Given the description of an element on the screen output the (x, y) to click on. 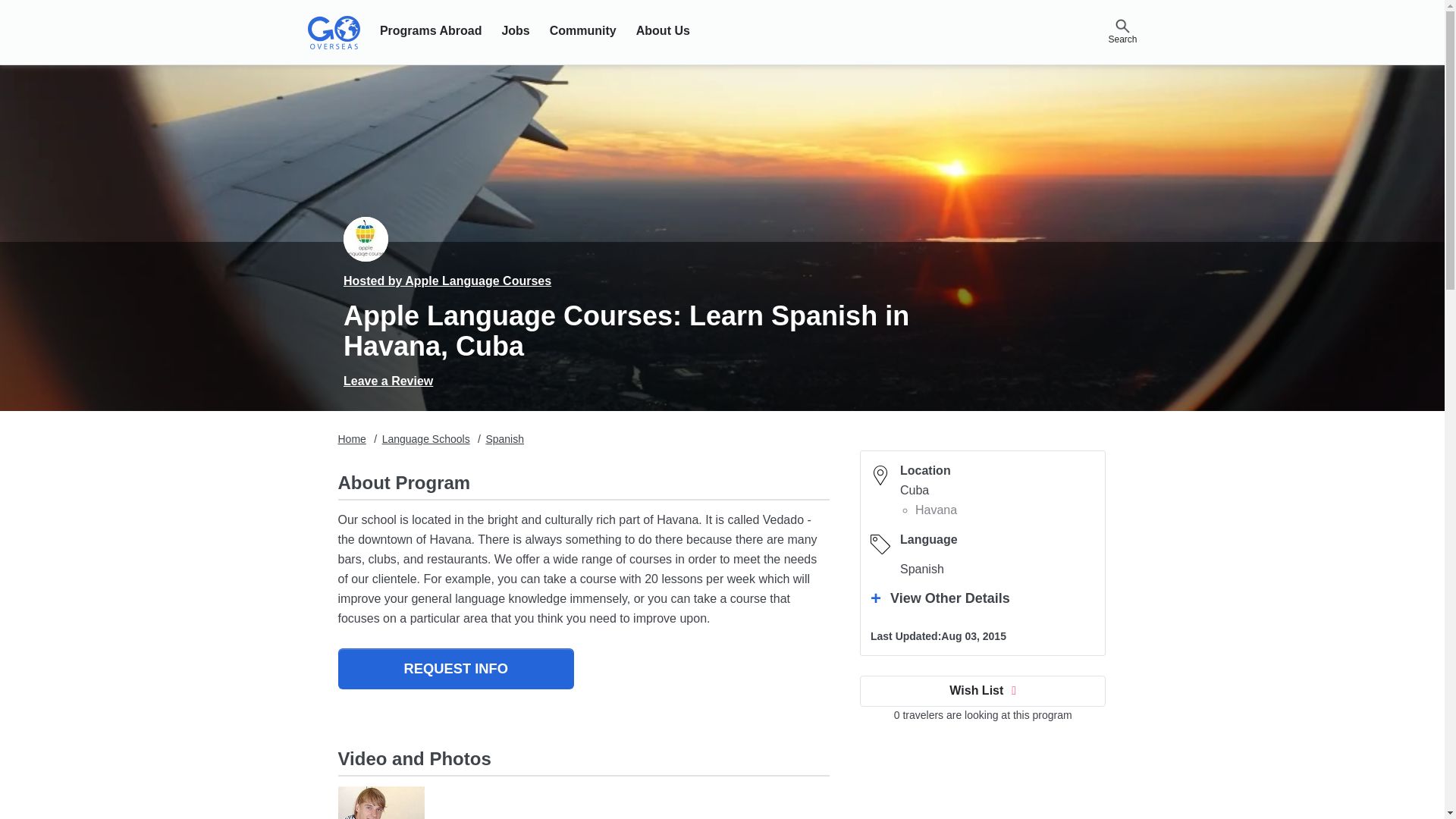
Search (1122, 26)
Home (351, 439)
Leave a Review (387, 380)
Spanish (504, 439)
Add this program to your wish list. (982, 689)
Apple Language Courses (381, 802)
Go Overseas Home (333, 32)
REQUEST INFO (455, 668)
Language Schools (425, 439)
Apple Language Courses (365, 239)
Leave a Review (387, 380)
Hosted by Apple Language Courses (447, 280)
